Given the description of an element on the screen output the (x, y) to click on. 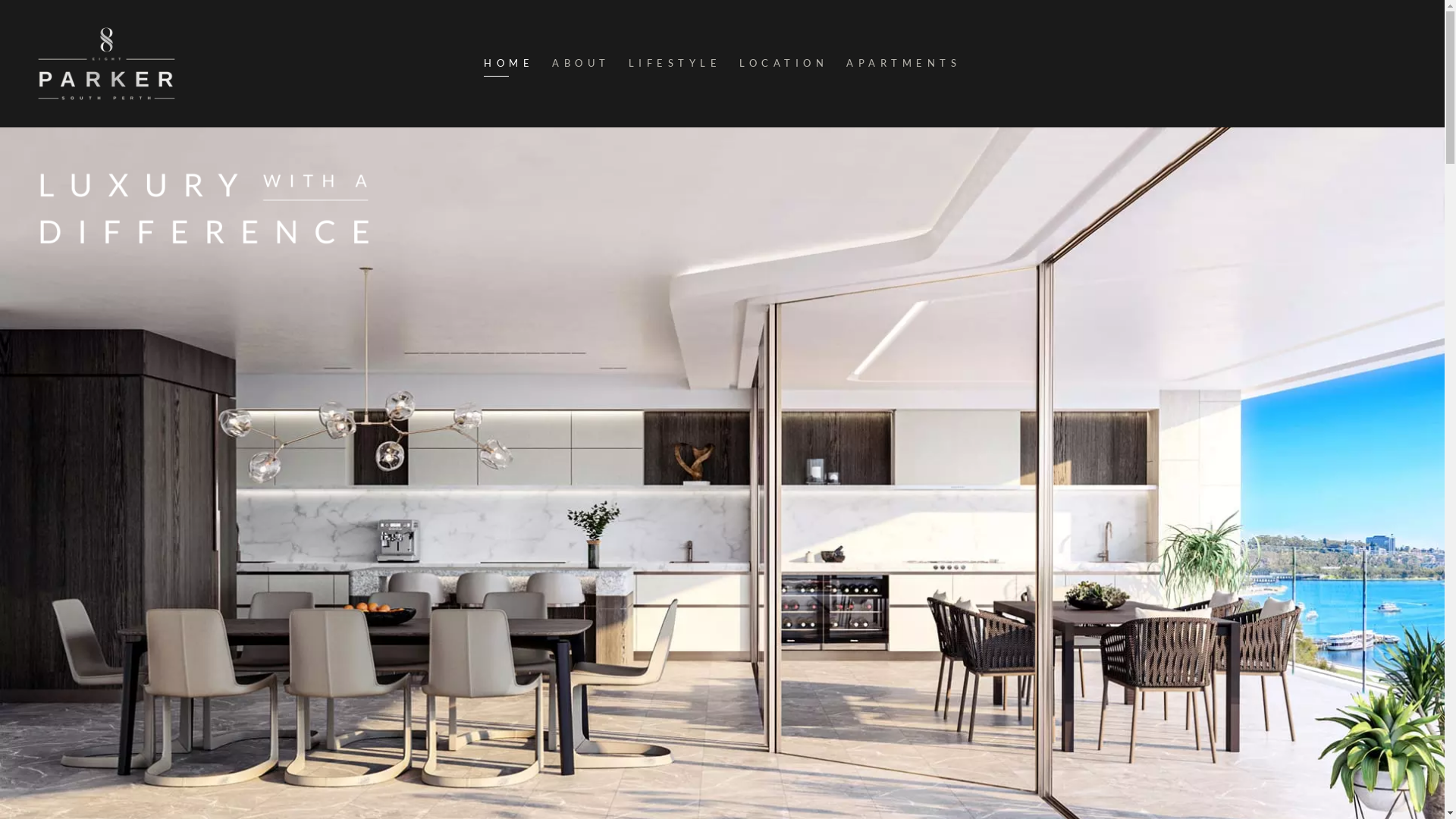
APARTMENTS Element type: text (903, 62)
LIFESTYLE Element type: text (674, 62)
LOCATION Element type: text (783, 62)
HOME Element type: text (508, 62)
ABOUT Element type: text (581, 62)
